Given the description of an element on the screen output the (x, y) to click on. 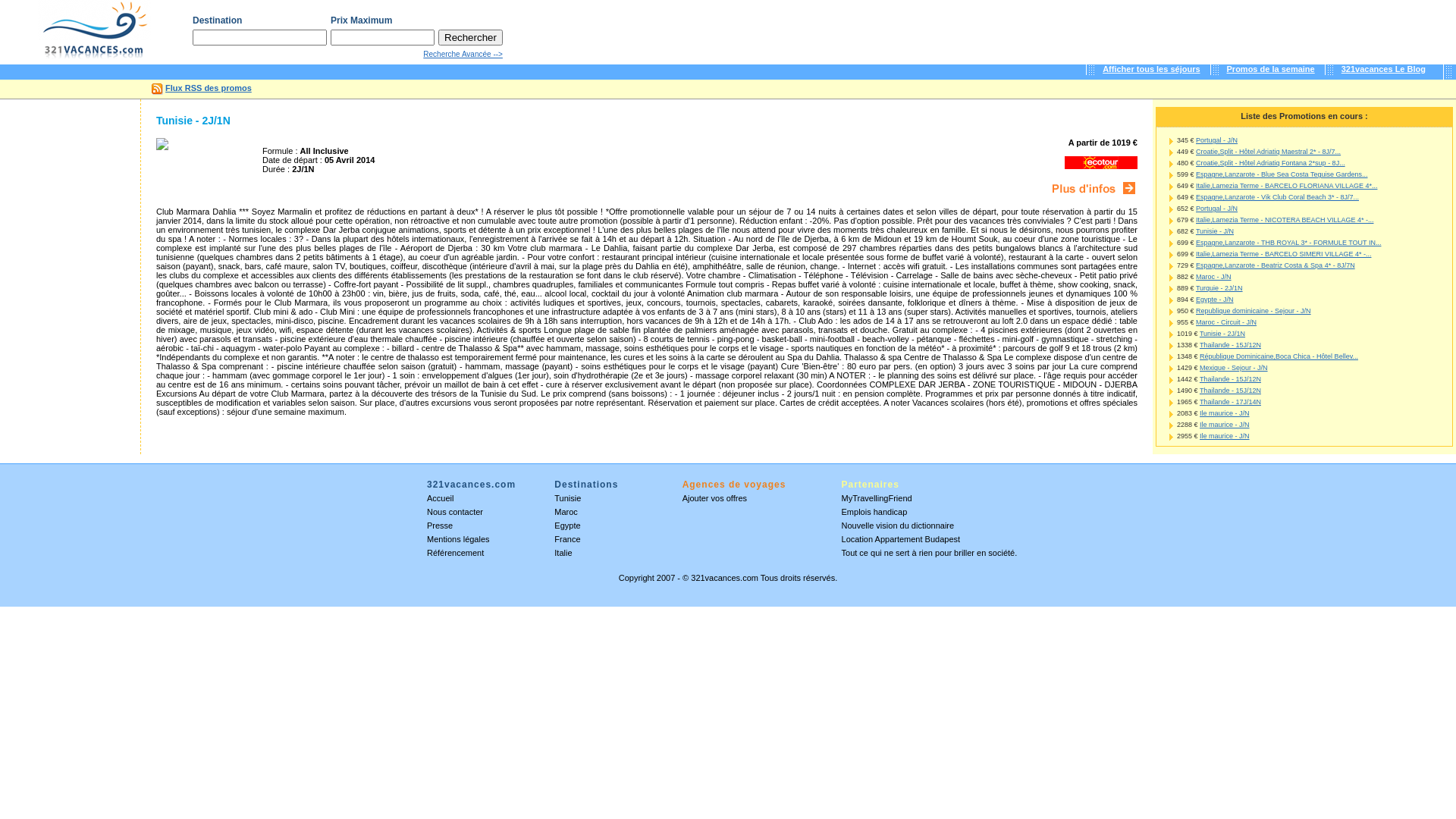
Mexique - Sejour - J/N Element type: text (1233, 367)
Egypte - J/N Element type: text (1214, 299)
Ajouter vos offres Element type: text (714, 497)
Flux RSS des promos Element type: text (208, 87)
321vacances.com Element type: text (470, 488)
Italie,Lamezia Terme - NICOTERA BEACH VILLAGE 4* -... Element type: text (1284, 219)
Location Appartement Budapest Element type: text (900, 538)
Italie Element type: text (562, 552)
Nous contacter Element type: text (454, 511)
Republique dominicaine - Sejour - J/N Element type: text (1253, 310)
Presse Element type: text (439, 525)
Espagne,Lanzarote - Beatriz Costa & Spa 4* - 8J/7N Element type: text (1275, 265)
Ile maurice - J/N Element type: text (1224, 435)
Emplois handicap Element type: text (874, 511)
Ile maurice - J/N Element type: text (1224, 424)
Accueil Element type: text (439, 497)
MyTravellingFriend Element type: text (876, 497)
Espagne,Lanzarote - THB ROYAL 3* - FORMULE TOUT IN... Element type: text (1287, 242)
321vacances Le Blog Element type: text (1383, 68)
321vacances.com Element type: text (724, 577)
Promos de la semaine Element type: text (1270, 68)
Agences de voyages Element type: text (734, 488)
Ecotour Element type: hover (1093, 187)
Ile maurice - J/N Element type: text (1224, 413)
Italie,Lamezia Terme - BARCELO FLORIANA VILLAGE 4*... Element type: text (1286, 185)
Turquie - 2J/1N Element type: text (1218, 287)
Thailande - 15J/12N Element type: text (1230, 390)
Tunisie - 2J/1N Element type: text (1222, 333)
Thailande - 15J/12N Element type: text (1230, 378)
Thailande - 15J/12N Element type: text (1230, 344)
Egypte Element type: text (567, 525)
Tunisie - J/N Element type: text (1214, 231)
Espagne,Lanzarote - Blue Sea Costa Teguise Gardens... Element type: text (1281, 174)
Maroc Element type: text (565, 511)
Espagne,Lanzarote - Vik Club Coral Beach 3* - 8J/7... Element type: text (1276, 196)
Ecotour Element type: hover (1100, 162)
Italie,Lamezia Terme - BARCELO SIMERI VILLAGE 4* -... Element type: text (1283, 253)
Tunisie Element type: text (567, 497)
Maroc - Circuit - J/N Element type: text (1225, 322)
Thailande - 17J/14N Element type: text (1230, 401)
Portugal - J/N Element type: text (1216, 208)
France Element type: text (567, 538)
Portugal - J/N Element type: text (1216, 140)
Nouvelle vision du dictionnaire Element type: text (897, 525)
Destinations Element type: text (586, 488)
Maroc - J/N Element type: text (1213, 276)
Rechercher Element type: text (470, 37)
Partenaires Element type: text (870, 488)
